Given the description of an element on the screen output the (x, y) to click on. 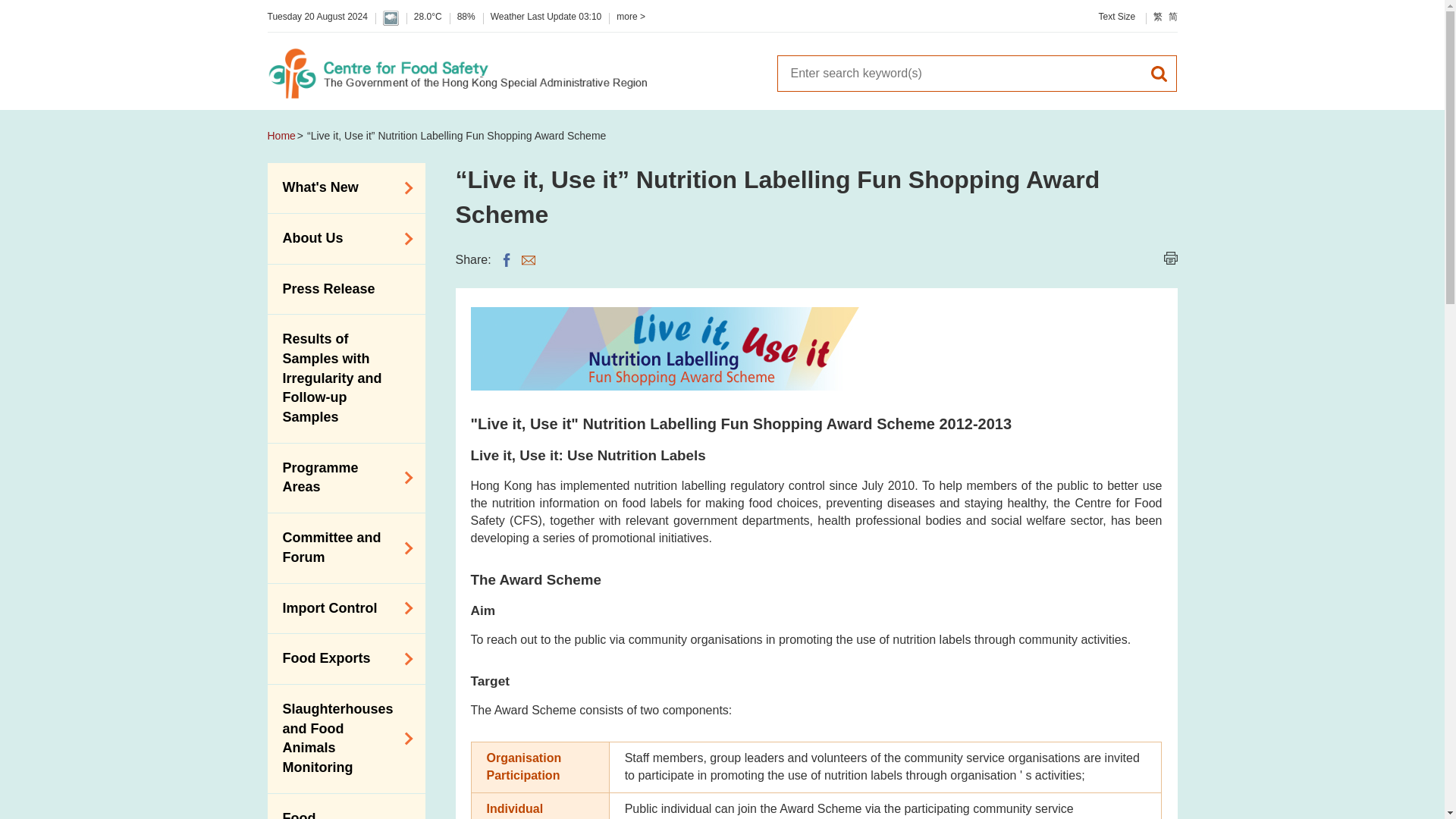
Search (1159, 73)
Change Text Size (1116, 16)
Search (958, 73)
Light Rain (390, 17)
Print (1169, 257)
Search (1159, 73)
More Weather Information (630, 16)
Search (1159, 73)
Text Size (1116, 16)
